Given the description of an element on the screen output the (x, y) to click on. 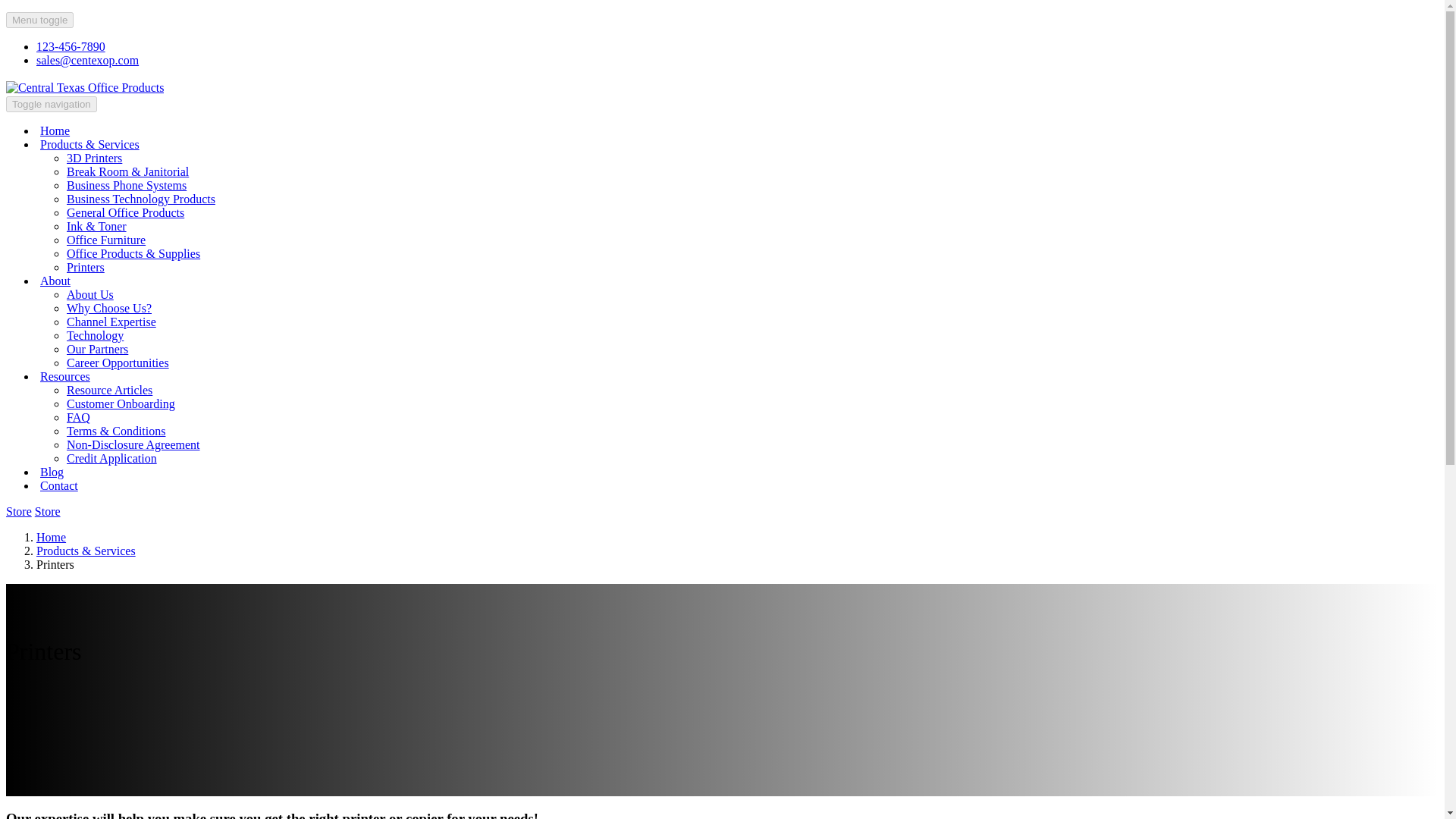
Non-Disclosure Agreement (133, 444)
Why Choose Us? (108, 308)
Business Technology Products (140, 198)
Home (50, 536)
Credit Application (111, 458)
Printers (85, 267)
Home (55, 130)
About Us (89, 294)
About (59, 280)
Central Texas Office Products (84, 88)
FAQ (78, 417)
123-456-7890 (70, 46)
Toggle navigation (51, 104)
Channel Expertise (110, 321)
General Office Products (125, 212)
